Given the description of an element on the screen output the (x, y) to click on. 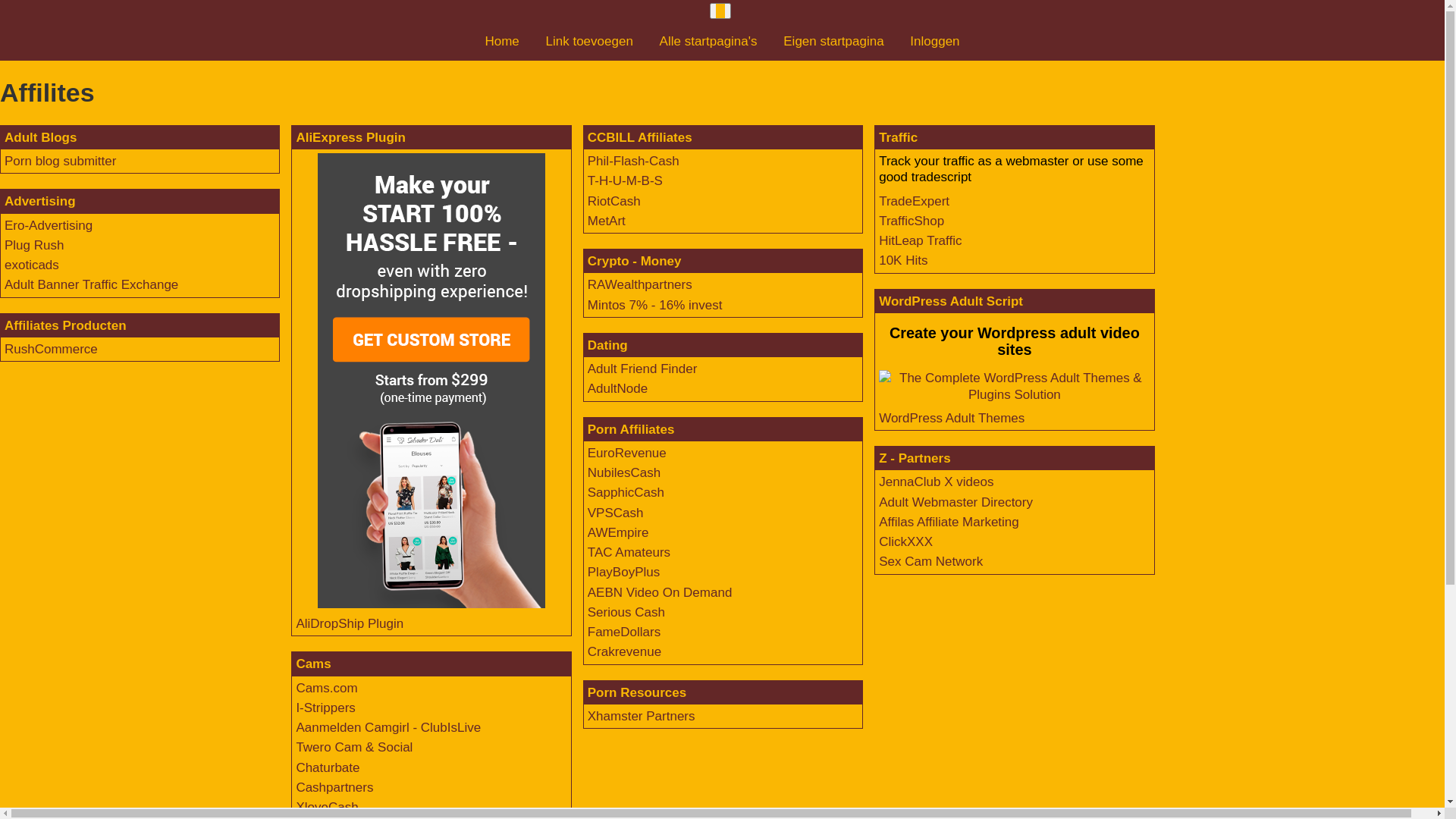
Twero Cam & Social Element type: text (353, 747)
XloveCash Element type: text (326, 807)
Ero-Advertising Element type: text (48, 225)
TrafficShop Element type: text (911, 220)
Serious Cash Element type: text (626, 612)
AWEmpire Element type: text (618, 532)
Affilites Element type: text (722, 92)
FameDollars Element type: text (623, 631)
Link toevoegen Element type: text (589, 40)
JennaClub X videos Element type: text (935, 481)
NubilesCash Element type: text (623, 472)
Phil-Flash-Cash Element type: text (633, 160)
Porn blog submitter Element type: text (60, 160)
HitLeap Traffic Element type: text (919, 240)
RAWealthpartners Element type: text (639, 284)
Plug Rush Element type: text (33, 245)
RushCommerce Element type: text (50, 349)
Xhamster Partners Element type: text (641, 716)
Cashpartners Element type: text (334, 787)
VPSCash Element type: text (615, 512)
Make your start 100% hassle free! Element type: hover (430, 380)
Adult Friend Finder Element type: text (642, 368)
10K Hits Element type: text (902, 260)
Crypto - Money Element type: text (634, 261)
TAC Amateurs Element type: text (628, 552)
PlayBoyPlus Element type: text (623, 571)
AEBN Video On Demand Element type: text (659, 592)
Aanmelden Camgirl - ClubIsLive Element type: text (387, 727)
Cams Element type: text (312, 663)
Affilas Affiliate Marketing Element type: text (948, 521)
Adult Blogs Element type: text (40, 137)
Chaturbate Element type: text (327, 767)
AliExpress Plugin Element type: text (350, 137)
AdultNode Element type: text (617, 388)
exoticads Element type: text (31, 264)
RiotCash Element type: text (613, 201)
Porn Affiliates Element type: text (630, 429)
Affiliates Producten Element type: text (65, 325)
Traffic Element type: text (897, 137)
Cams.com Element type: text (326, 687)
EuroRevenue Element type: text (626, 452)
Advertising Element type: text (39, 201)
Mintos 7% - 16% invest Element type: text (654, 305)
T-H-U-M-B-S Element type: text (624, 180)
Sex Cam Network Element type: text (930, 561)
WordPress Adult Script Element type: text (950, 301)
WordPress Adult Themes Element type: text (951, 418)
Home Element type: text (501, 40)
Alle startpagina's Element type: text (708, 40)
MetArt Element type: text (606, 220)
AliDropShip Plugin Element type: text (349, 623)
Dating Element type: text (607, 345)
SapphicCash Element type: text (625, 492)
TradeExpert Element type: text (913, 201)
Adult Webmaster Directory Element type: text (955, 502)
ClickXXX Element type: text (905, 541)
The Complete WordPress Adult Themes & Plugins Solution Element type: hover (1013, 386)
Z - Partners Element type: text (914, 458)
Adult Banner Traffic Exchange Element type: text (91, 284)
Inloggen Element type: text (934, 40)
Crakrevenue Element type: text (624, 651)
Porn Resources Element type: text (636, 692)
I-Strippers Element type: text (324, 707)
CCBILL Affiliates Element type: text (639, 137)
Eigen startpagina Element type: text (832, 40)
